Given the description of an element on the screen output the (x, y) to click on. 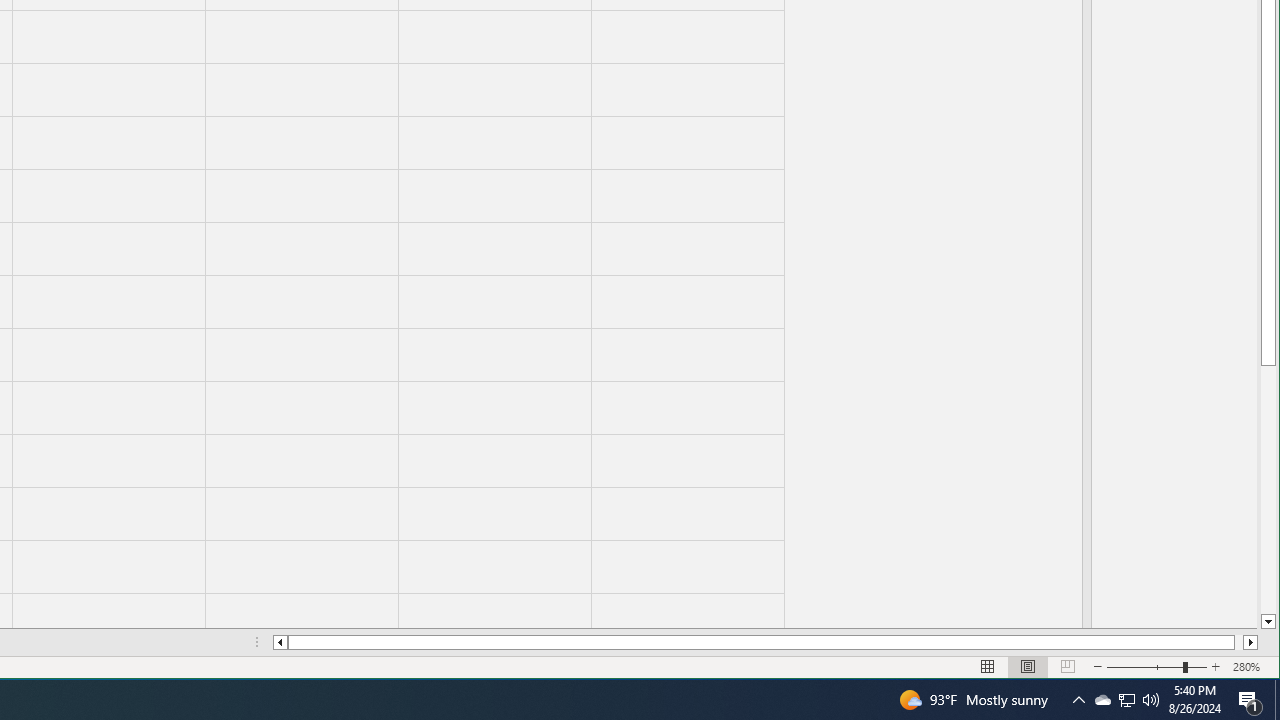
Show desktop (1277, 699)
